Given the description of an element on the screen output the (x, y) to click on. 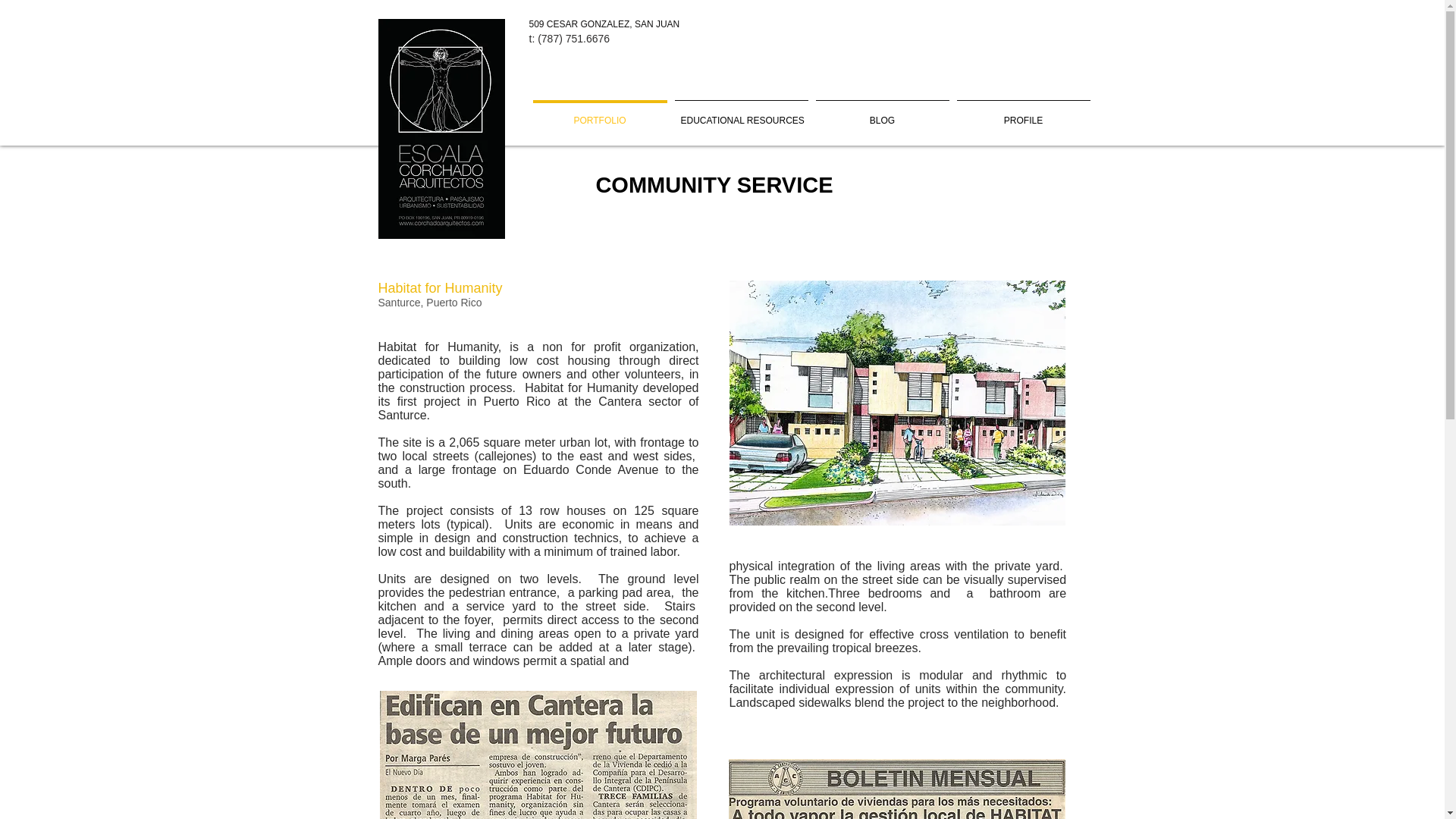
EDUCATIONAL RESOURCES (739, 113)
PORTFOLIO (600, 113)
BLOG (881, 113)
